Given the description of an element on the screen output the (x, y) to click on. 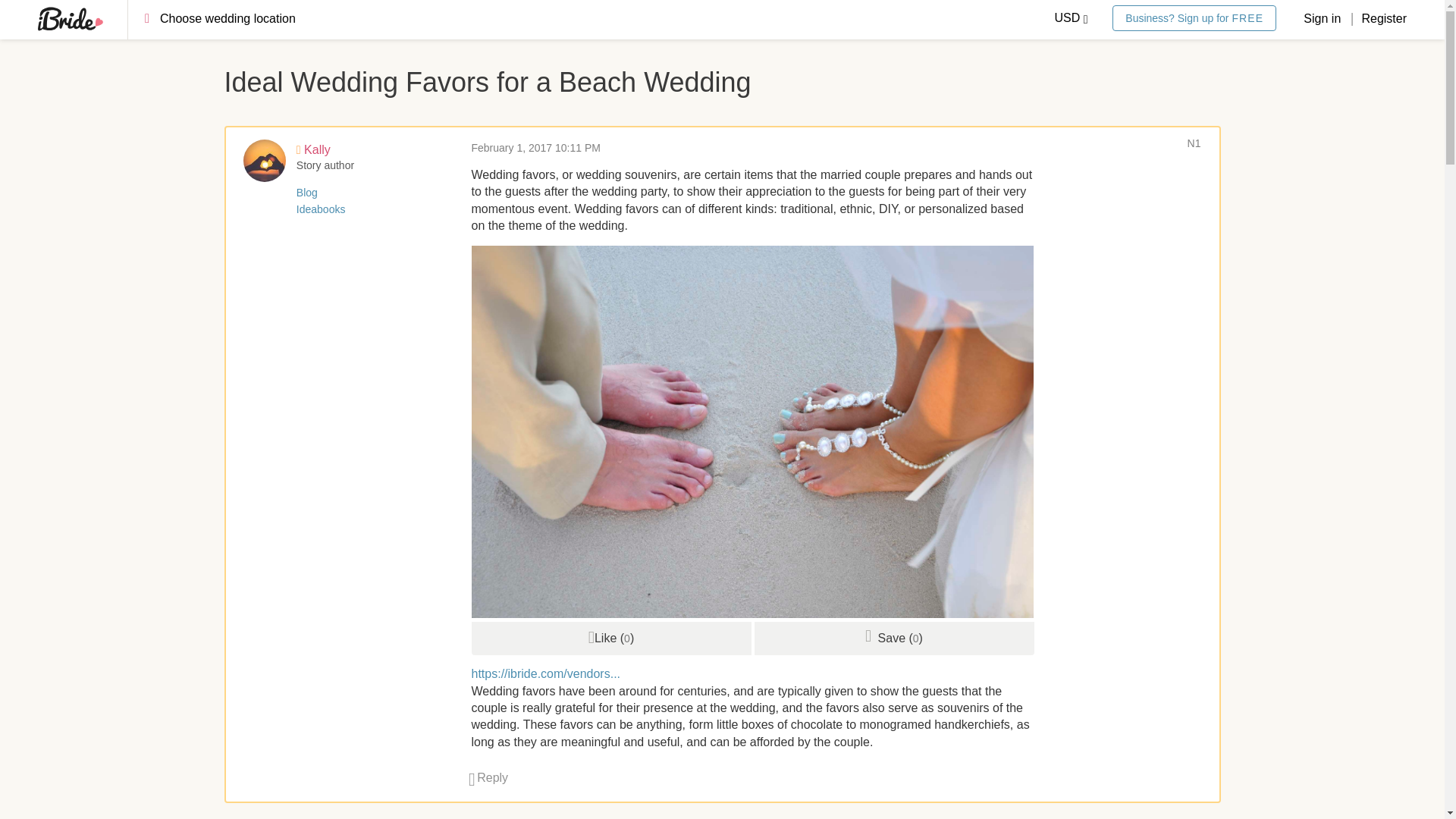
Ideabooks (321, 209)
N1 (1194, 143)
Kally (313, 150)
Reply (488, 777)
Business? Sign up for FREE (1194, 17)
Blog (307, 192)
Sign in (1323, 18)
Choose wedding location (240, 22)
N1 (1194, 143)
Reply (488, 777)
